Given the description of an element on the screen output the (x, y) to click on. 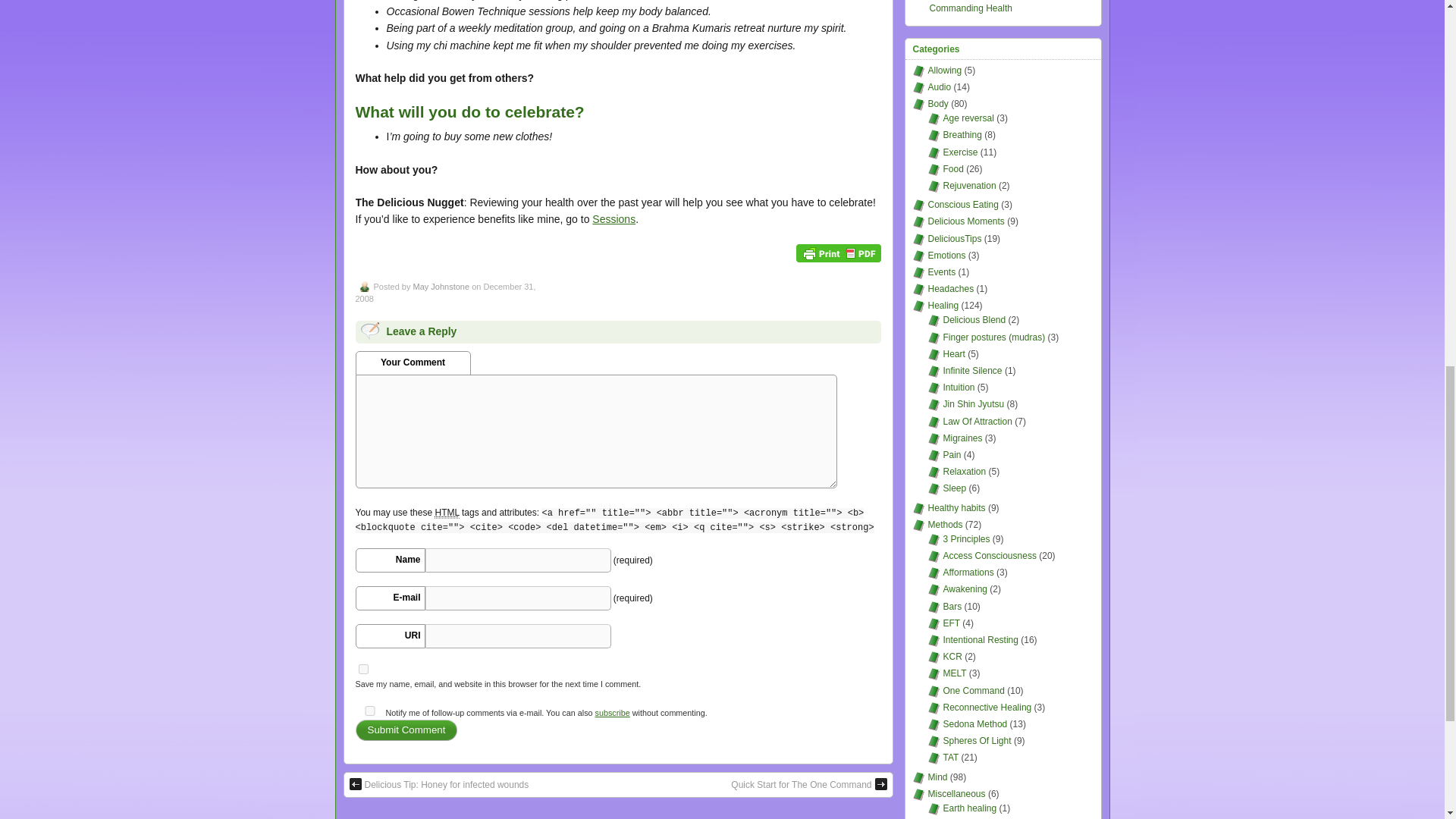
  Delicious Tip: Honey for infected wounds (438, 784)
  Quick Start for The One Command (808, 784)
May Johnstone (440, 286)
Sessions (613, 218)
Submit Comment (406, 730)
yes (369, 710)
subscribe (612, 712)
Submit Comment (406, 730)
yes (363, 669)
HyperText Markup Language (445, 512)
